Given the description of an element on the screen output the (x, y) to click on. 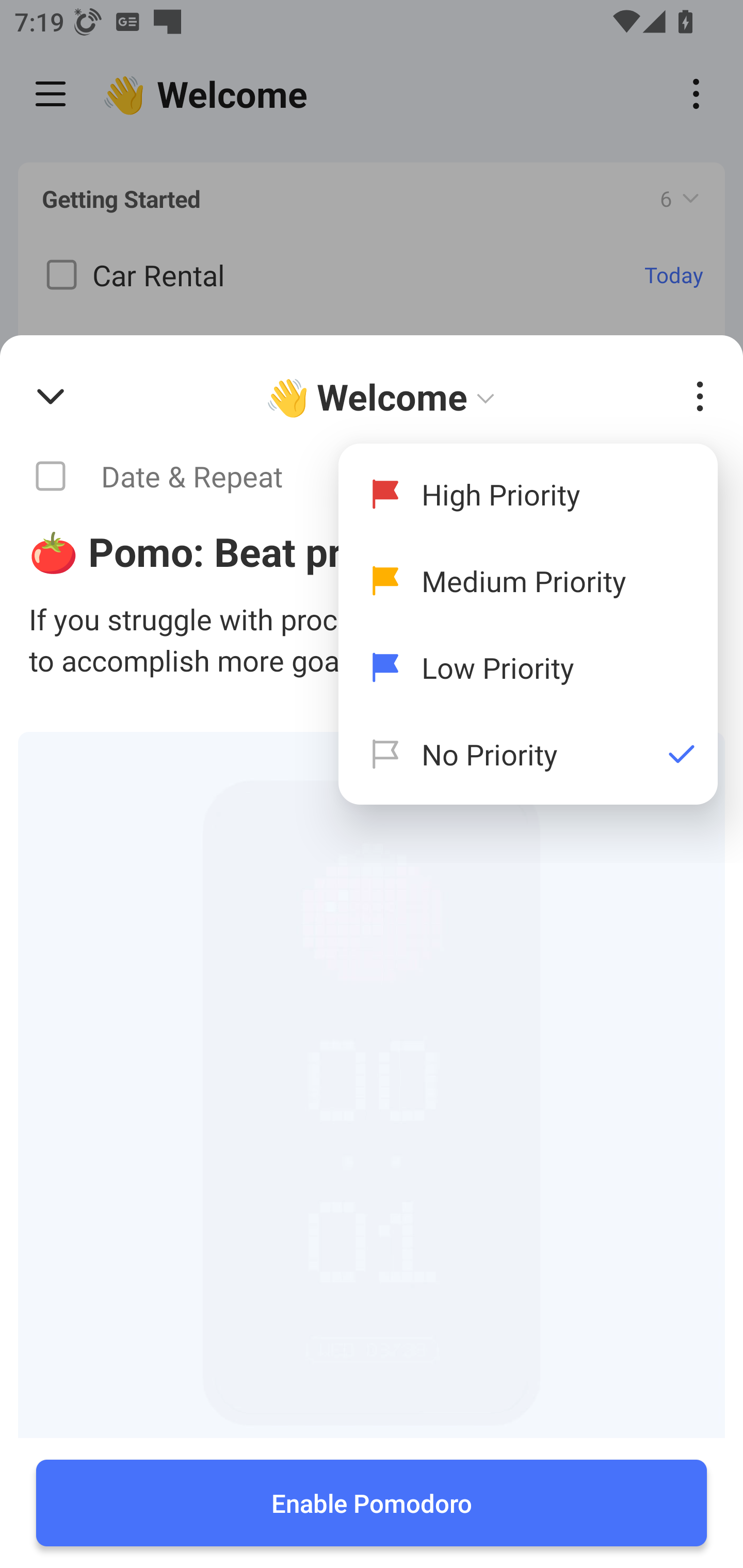
High Priority (527, 494)
Medium Priority (527, 580)
Low Priority (527, 667)
No Priority (527, 754)
